Given the description of an element on the screen output the (x, y) to click on. 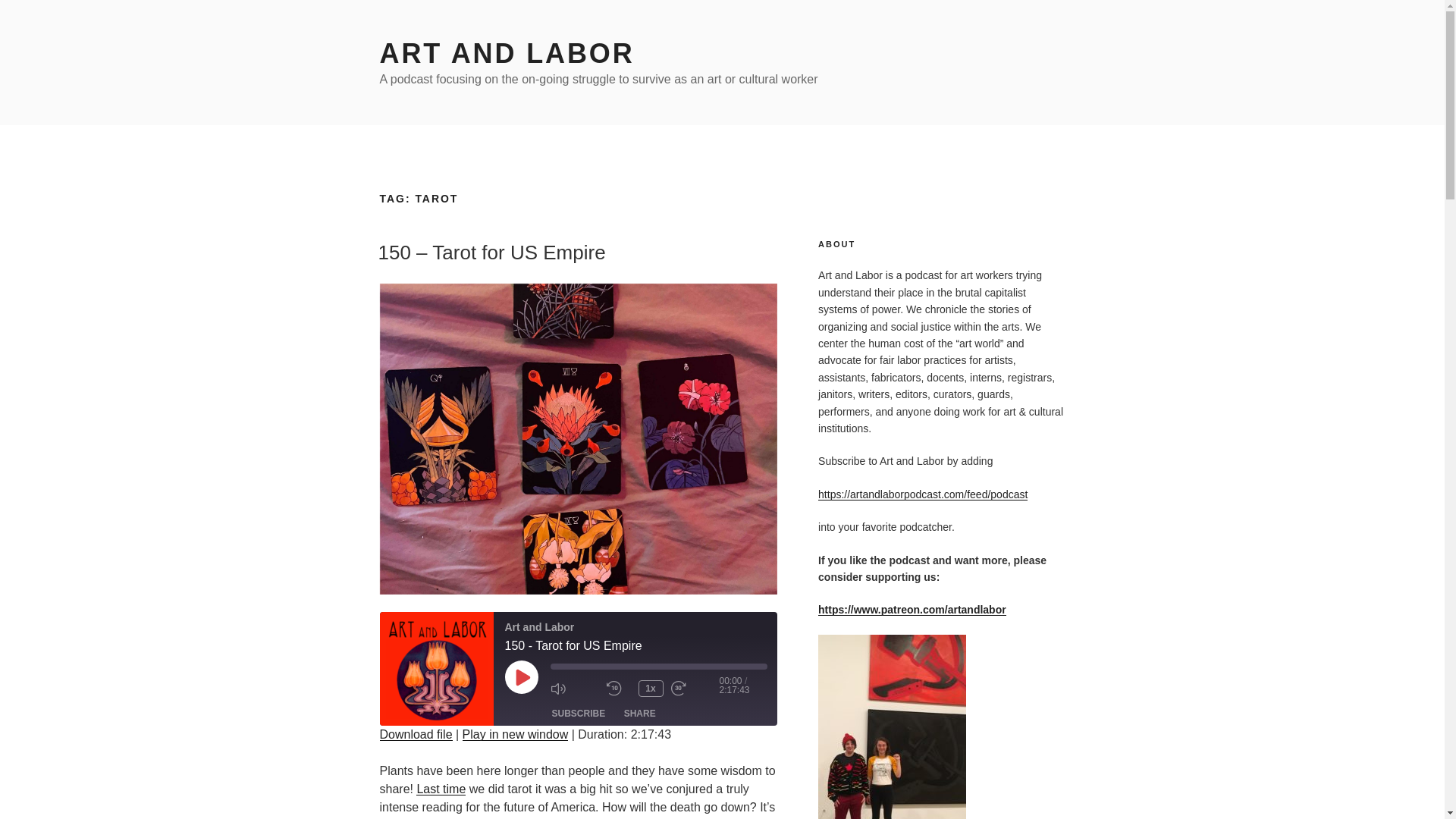
Subscribe (578, 713)
Share (639, 713)
Play in new window (516, 734)
Fast Forward 30 seconds (694, 688)
Seek (658, 666)
Download file (414, 734)
Art and Labor (435, 668)
Playback Speed (651, 688)
Play (521, 676)
1x (651, 688)
SHARE (639, 713)
Rewind 10 seconds (618, 688)
Play Episode (521, 676)
Rewind 10 Seconds (618, 688)
Fast Forward 30 seconds (694, 688)
